Given the description of an element on the screen output the (x, y) to click on. 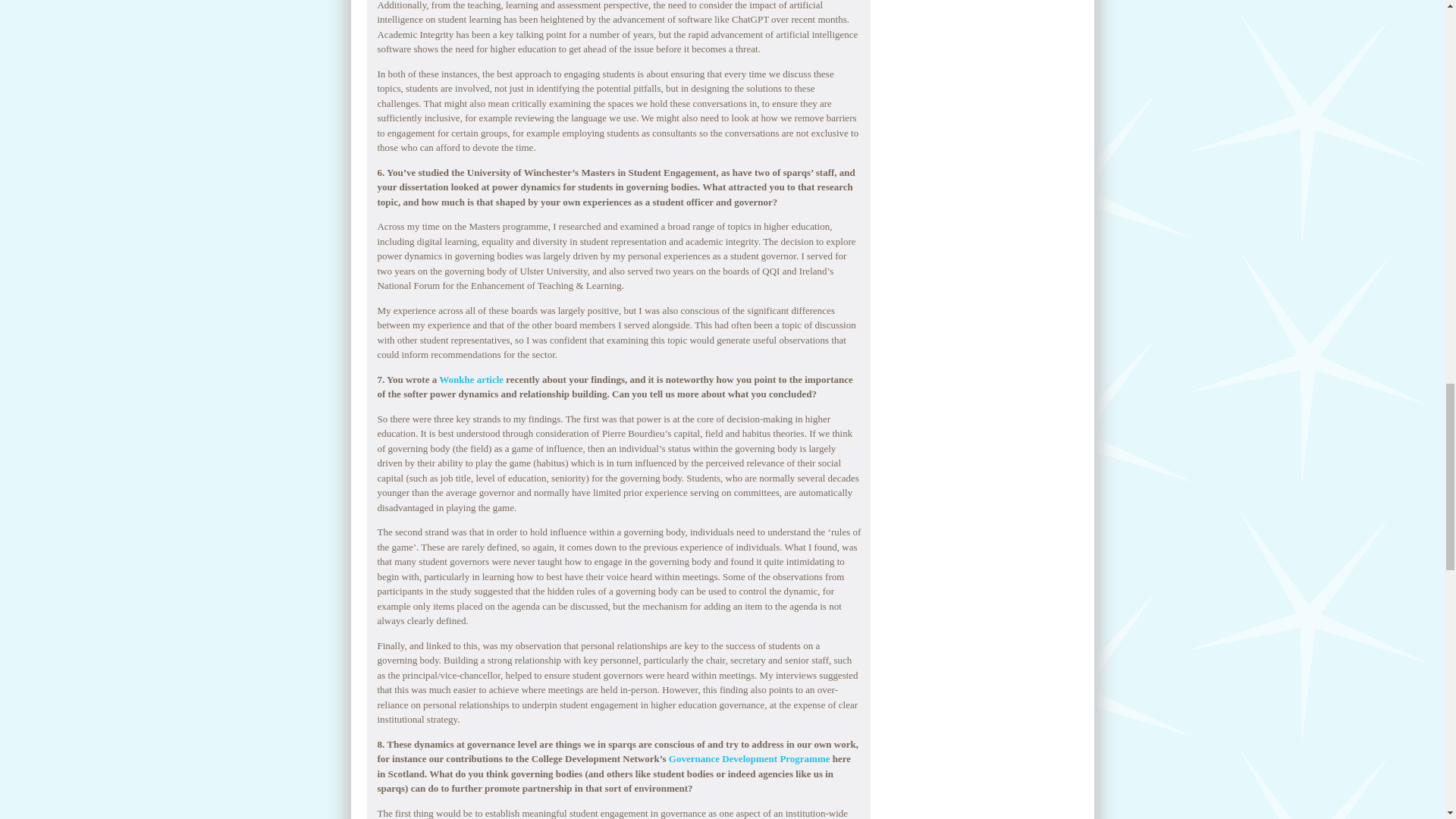
Wonkhe article (471, 378)
Governance Development Programme (748, 758)
